Given the description of an element on the screen output the (x, y) to click on. 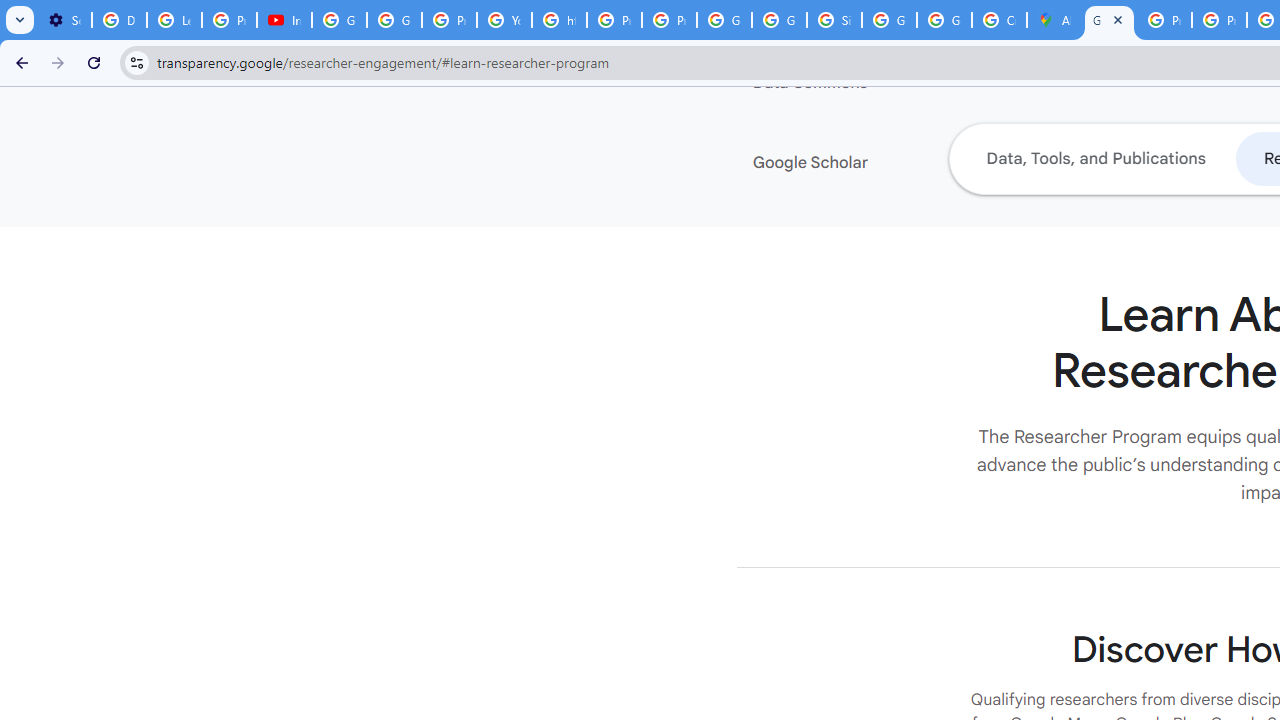
Data Commons (874, 83)
Data Commons (874, 83)
Google Account Help (339, 20)
Privacy Help Center - Policies Help (1218, 20)
Google Scholar (874, 163)
Learn how to find your photos - Google Photos Help (174, 20)
Google Scholar (874, 163)
Data, Tools, and Publications (1095, 158)
